Given the description of an element on the screen output the (x, y) to click on. 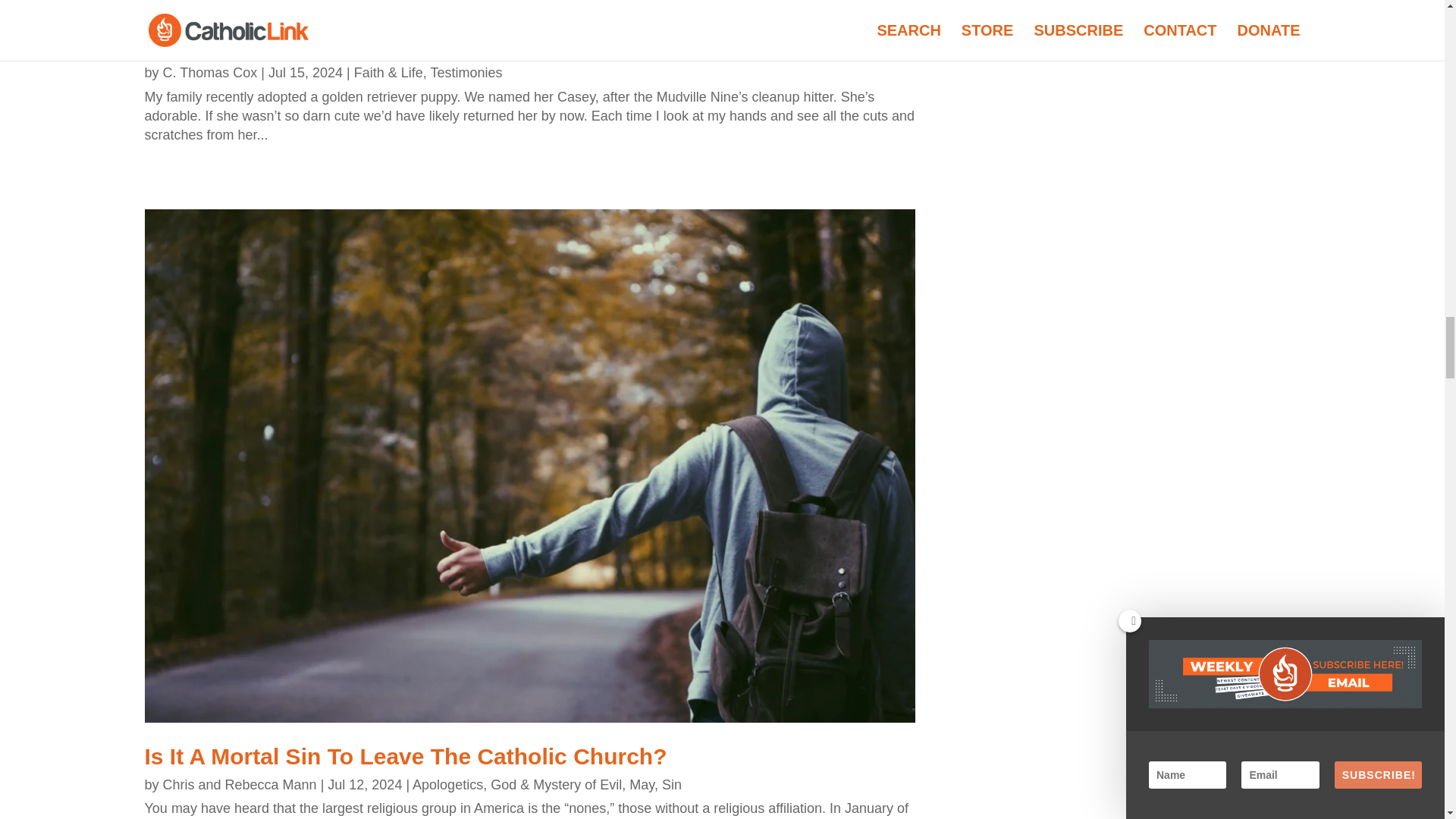
Testimonies (465, 72)
What My Dog Taught Me About God (336, 43)
C. Thomas Cox (210, 72)
Posts by Chris and Rebecca Mann (240, 784)
Posts by C. Thomas Cox (210, 72)
